Given the description of an element on the screen output the (x, y) to click on. 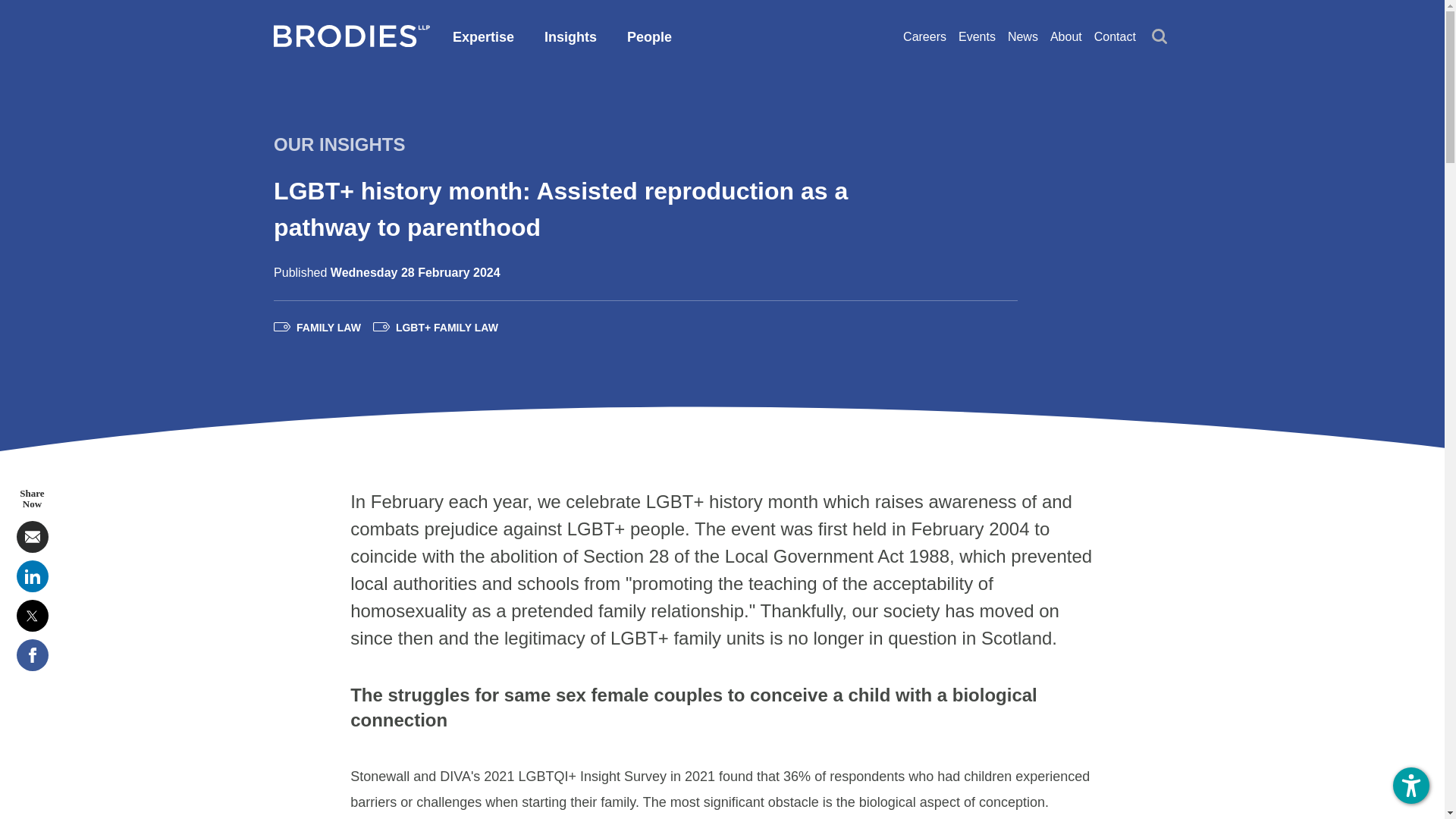
Open accessibility tools (1411, 785)
Share on Facebook (32, 654)
Share on Twitter (32, 615)
Brodies (351, 42)
Share via email (32, 536)
Brodies (351, 36)
Click to return to the homepage (351, 42)
Share on LinkedIn (32, 576)
